Given the description of an element on the screen output the (x, y) to click on. 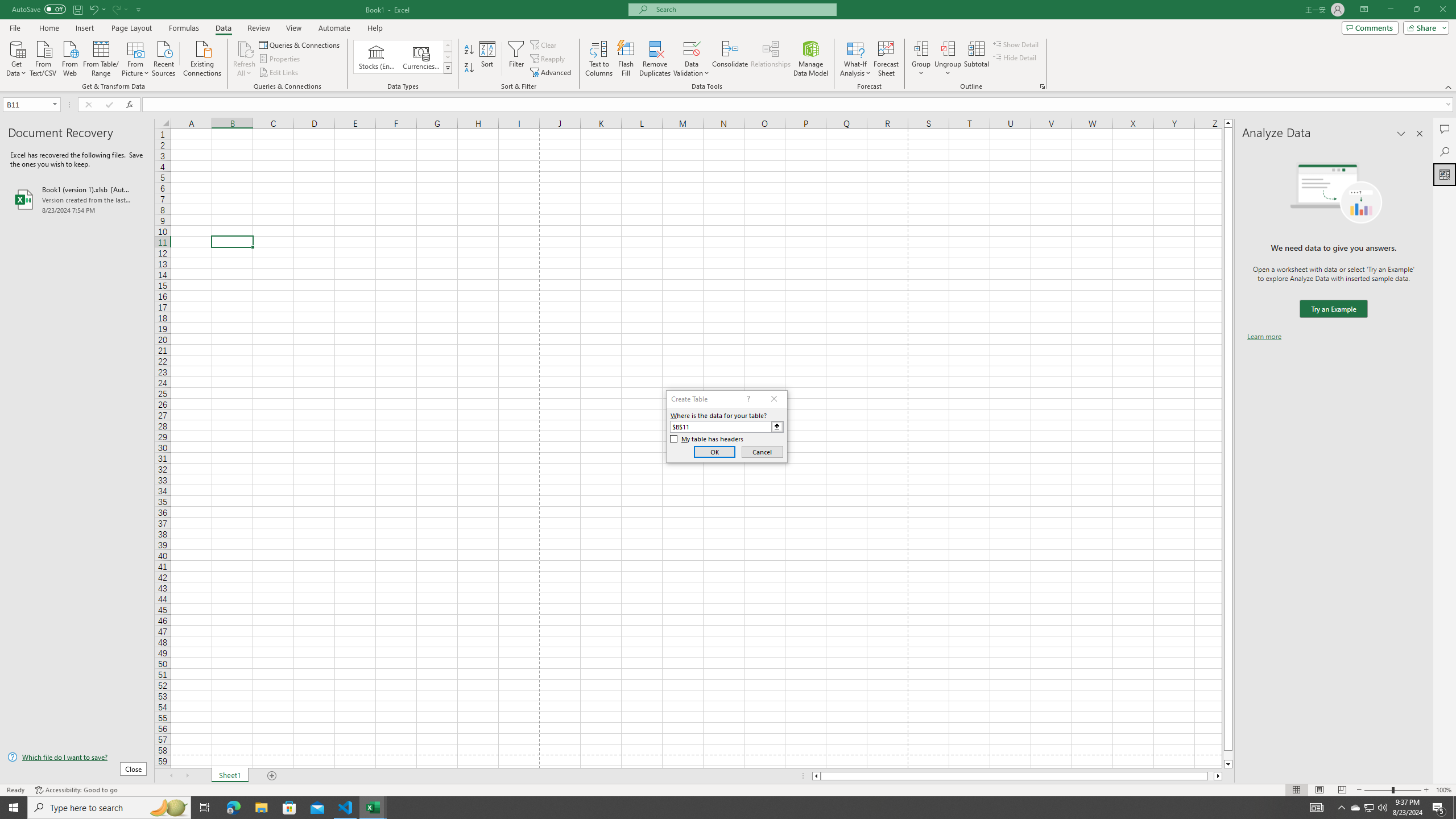
Filter (515, 58)
Properties (280, 58)
Sort A to Z (469, 49)
AutoSave (38, 9)
Recent Sources (163, 57)
Clear (544, 44)
Reapply (548, 58)
Stocks (English) (375, 56)
Close pane (1419, 133)
